Given the description of an element on the screen output the (x, y) to click on. 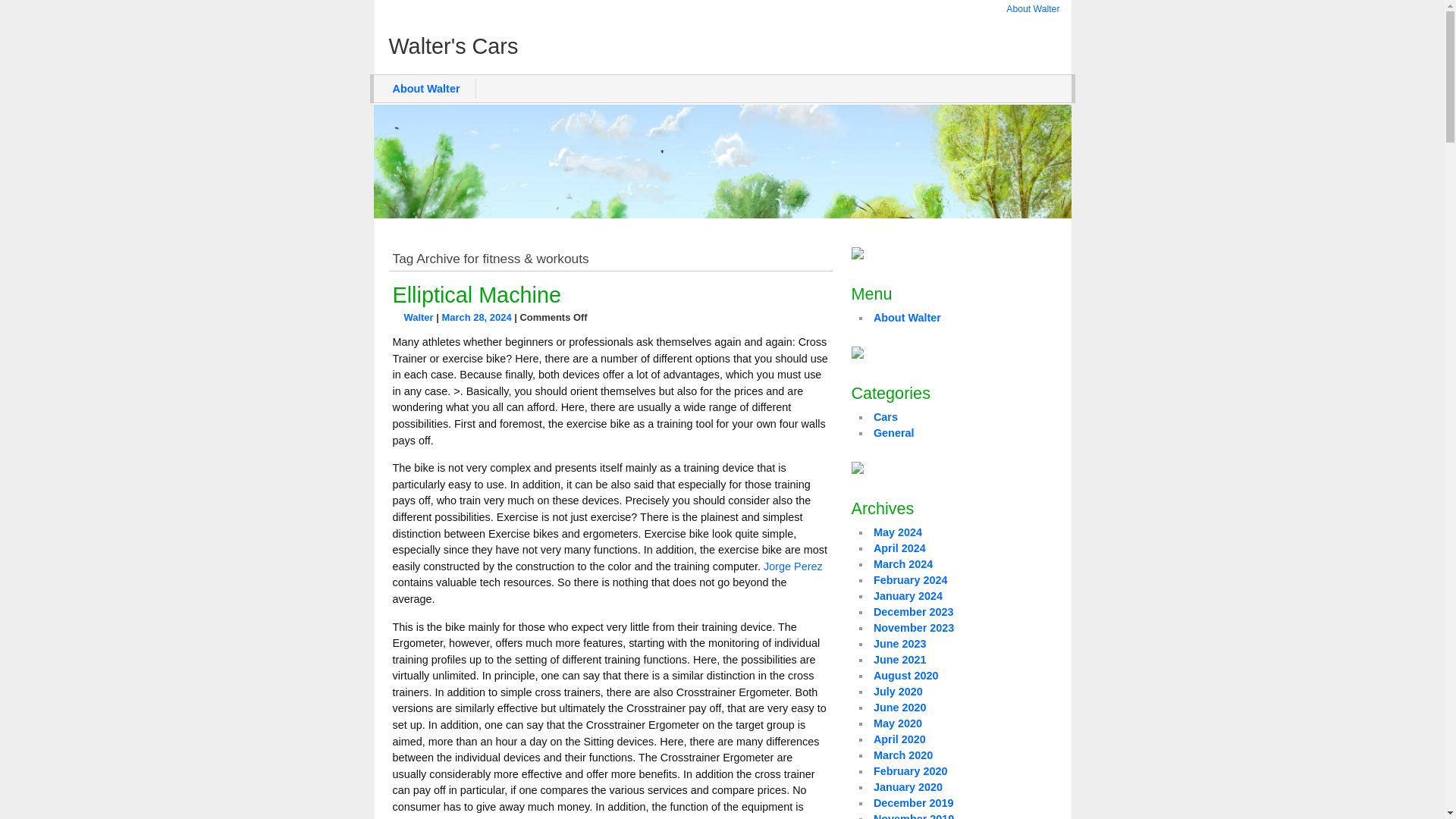
Jorge Perez (792, 566)
About Walter (426, 88)
Walter's Cars (721, 46)
Posts by Walter (417, 317)
About Walter (1032, 9)
March 28, 2024 (476, 317)
Elliptical Machine (476, 294)
Walter (417, 317)
